Given the description of an element on the screen output the (x, y) to click on. 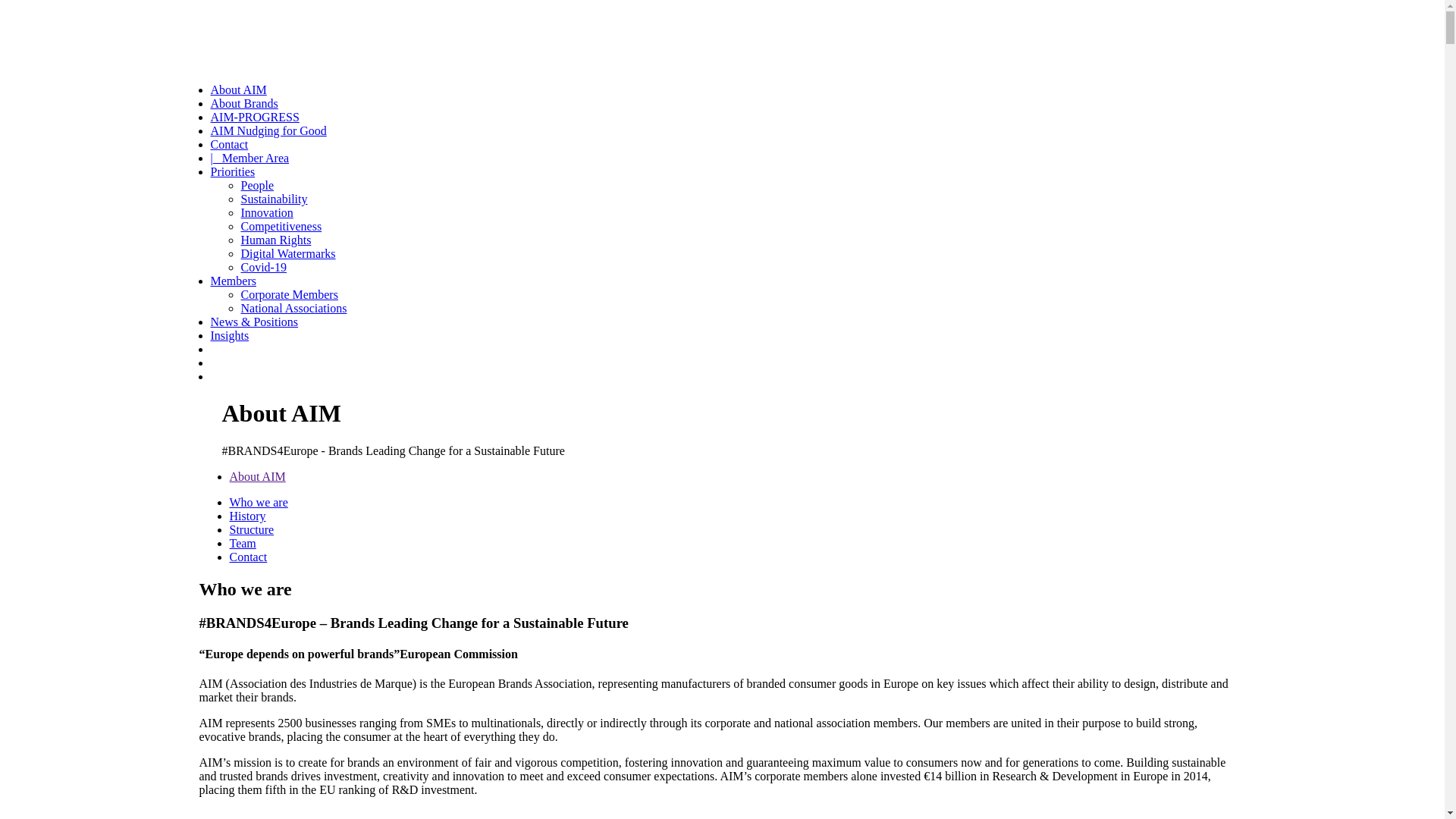
National Associations Element type: text (294, 307)
Sustainability Element type: text (274, 198)
Structure Element type: text (251, 529)
Team Element type: text (242, 542)
About AIM Element type: text (257, 476)
News & Positions Element type: text (254, 321)
About Brands Element type: text (244, 103)
Contact Element type: text (229, 144)
|   Member Area Element type: text (249, 157)
AIM-PROGRESS Element type: text (254, 116)
People Element type: text (257, 184)
Covid-19 Element type: text (263, 266)
Contact Element type: text (247, 556)
Priorities Element type: text (232, 171)
History Element type: text (247, 515)
About AIM Element type: text (238, 89)
Competitiveness Element type: text (281, 225)
Human Rights Element type: text (276, 239)
AIM Nudging for Good Element type: text (268, 130)
Innovation Element type: text (267, 212)
Members Element type: text (233, 280)
Insights Element type: text (229, 335)
Digital Watermarks Element type: text (288, 253)
Corporate Members Element type: text (289, 294)
Who we are Element type: text (258, 501)
